Given the description of an element on the screen output the (x, y) to click on. 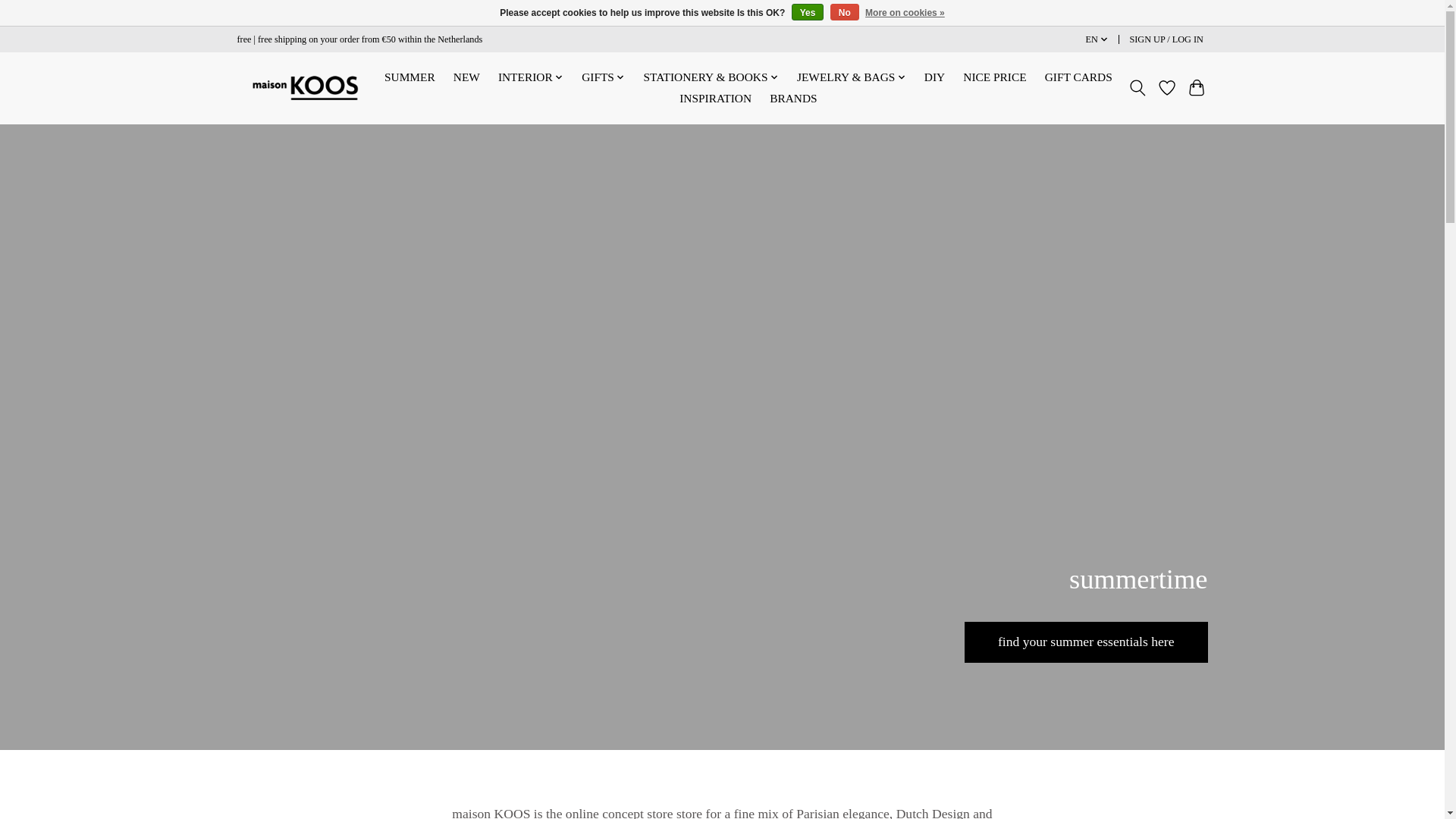
DIY (934, 77)
GIFTS (603, 77)
EN (1097, 39)
My account (1166, 39)
NEW (466, 77)
SUMMER (409, 77)
NICE PRICE (995, 77)
INTERIOR (531, 77)
INSPIRATION (715, 97)
GIFT CARDS (1078, 77)
BRANDS (793, 97)
